Given the description of an element on the screen output the (x, y) to click on. 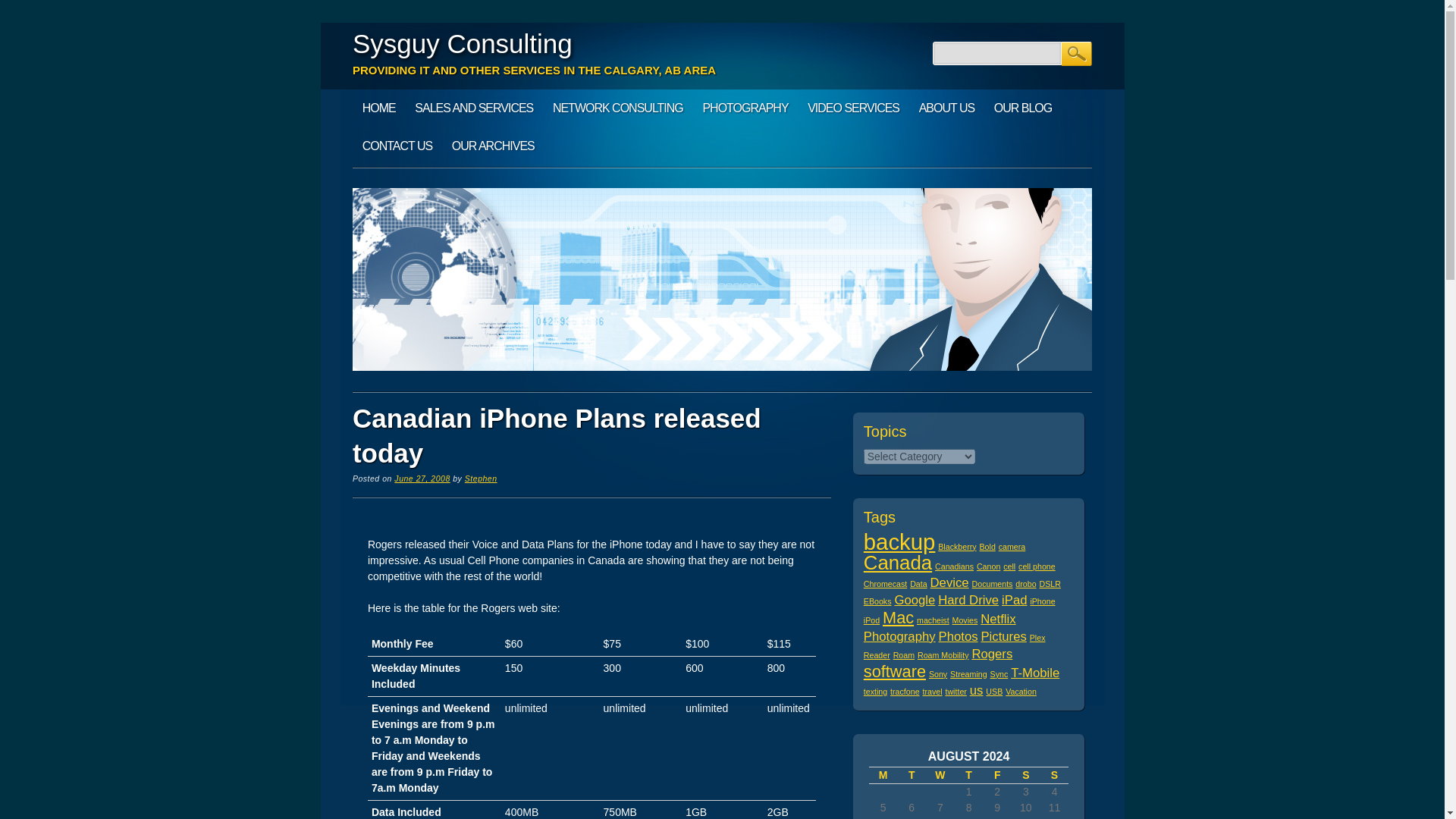
HOME (379, 108)
VIDEO SERVICES (852, 108)
Saturday (1026, 774)
OUR ARCHIVES (493, 146)
Tuesday (911, 774)
Canadians (954, 565)
Friday (996, 774)
ABOUT US (946, 108)
Sysguy Consulting (462, 43)
Stephen (480, 478)
11:52 am (421, 478)
Sysguy Consulting (462, 43)
Search (1076, 53)
View all posts by Stephen (480, 478)
Wednesday (940, 774)
